Given the description of an element on the screen output the (x, y) to click on. 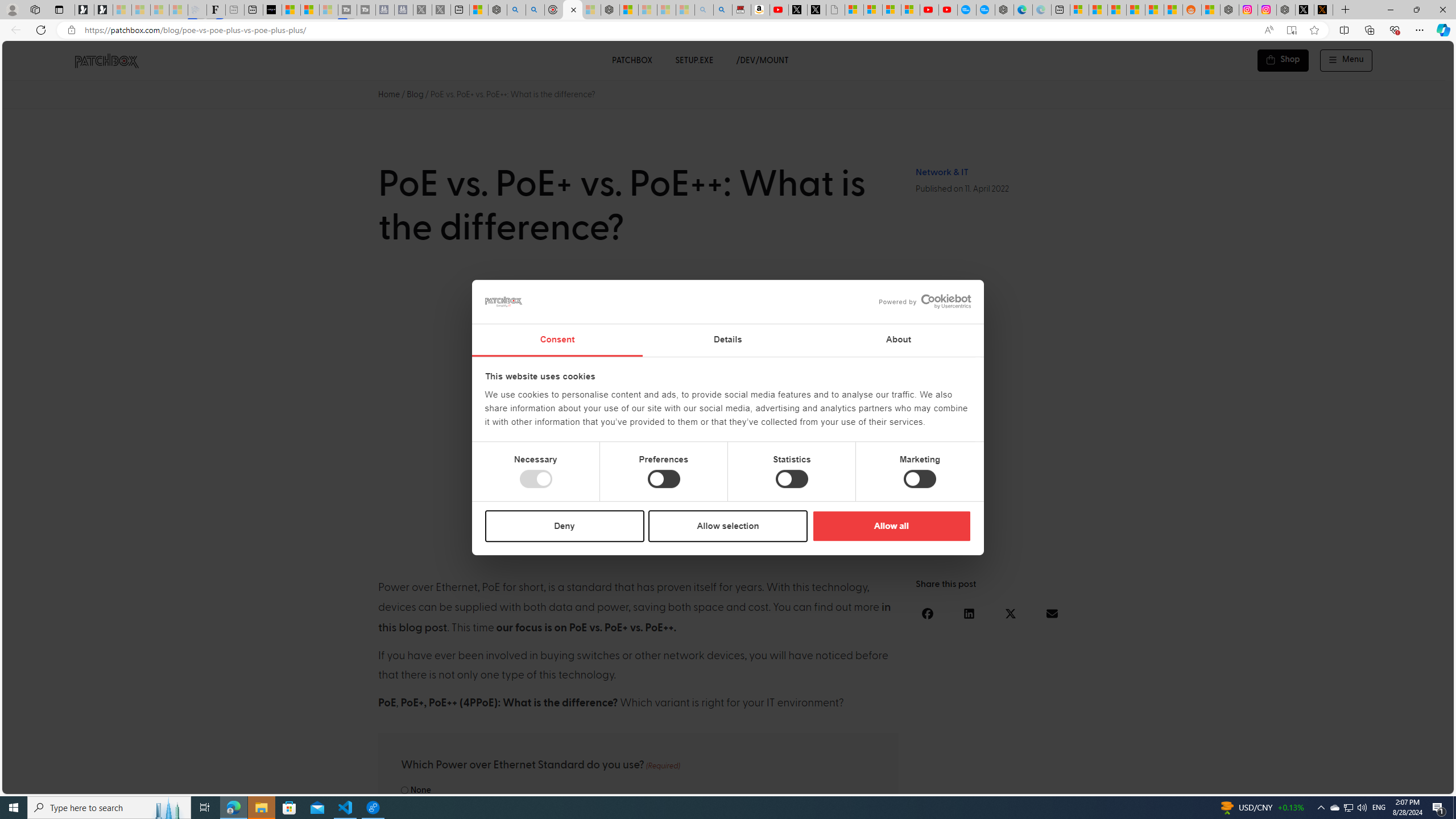
Nordace - Nordace has arrived Hong Kong (1004, 9)
Language switcher : German (1231, 782)
Language switcher : Danish (1311, 782)
PATCHBOX (631, 60)
Consent (556, 340)
